Given the description of an element on the screen output the (x, y) to click on. 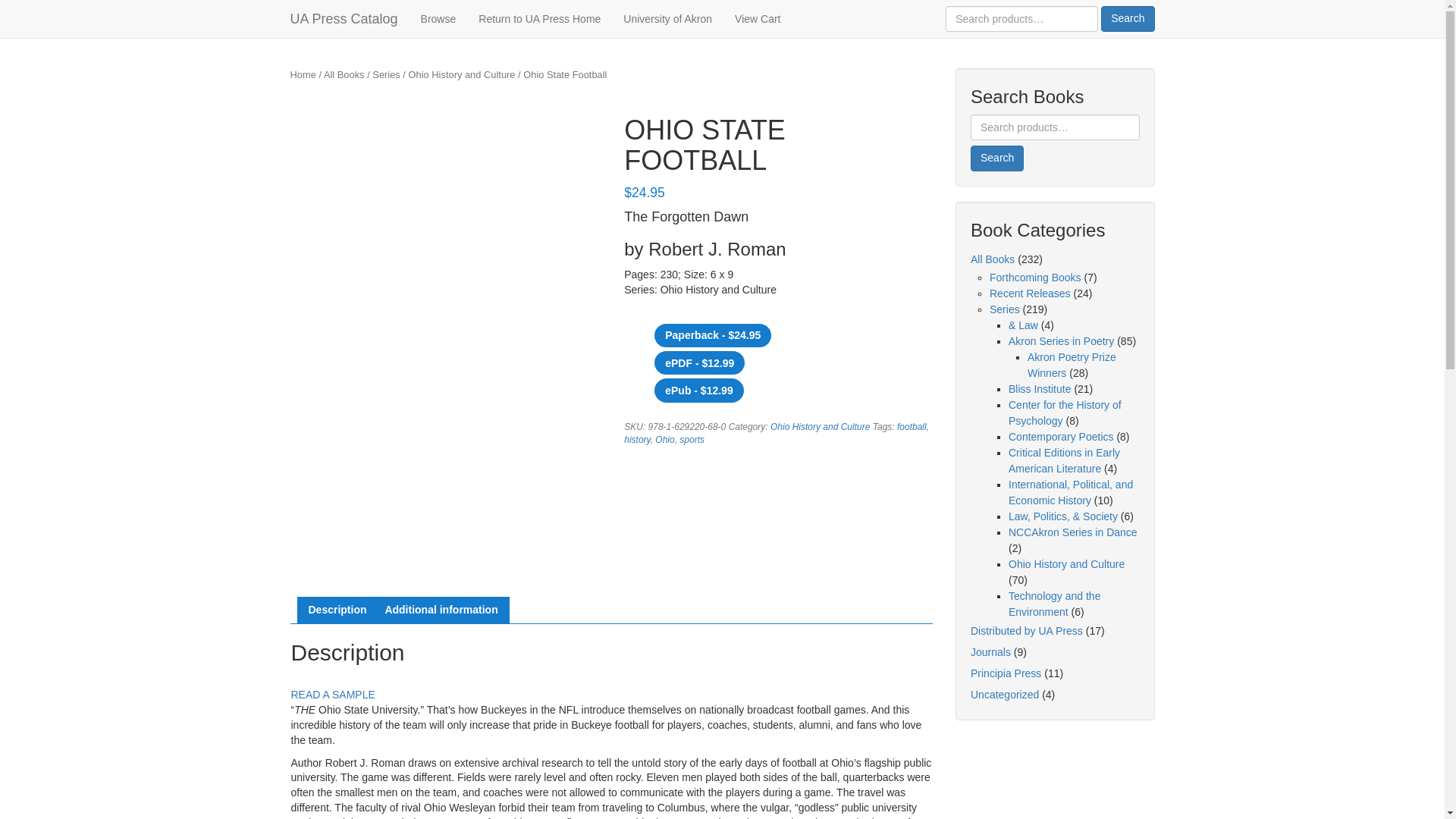
Forthcoming Books (1035, 277)
Ohio (664, 439)
Ohio History and Culture (462, 74)
Series (1005, 309)
Search (1127, 18)
University of Akron (667, 18)
View Cart (757, 18)
football (911, 426)
University of Akron (667, 18)
READ A SAMPLE (333, 694)
